Given the description of an element on the screen output the (x, y) to click on. 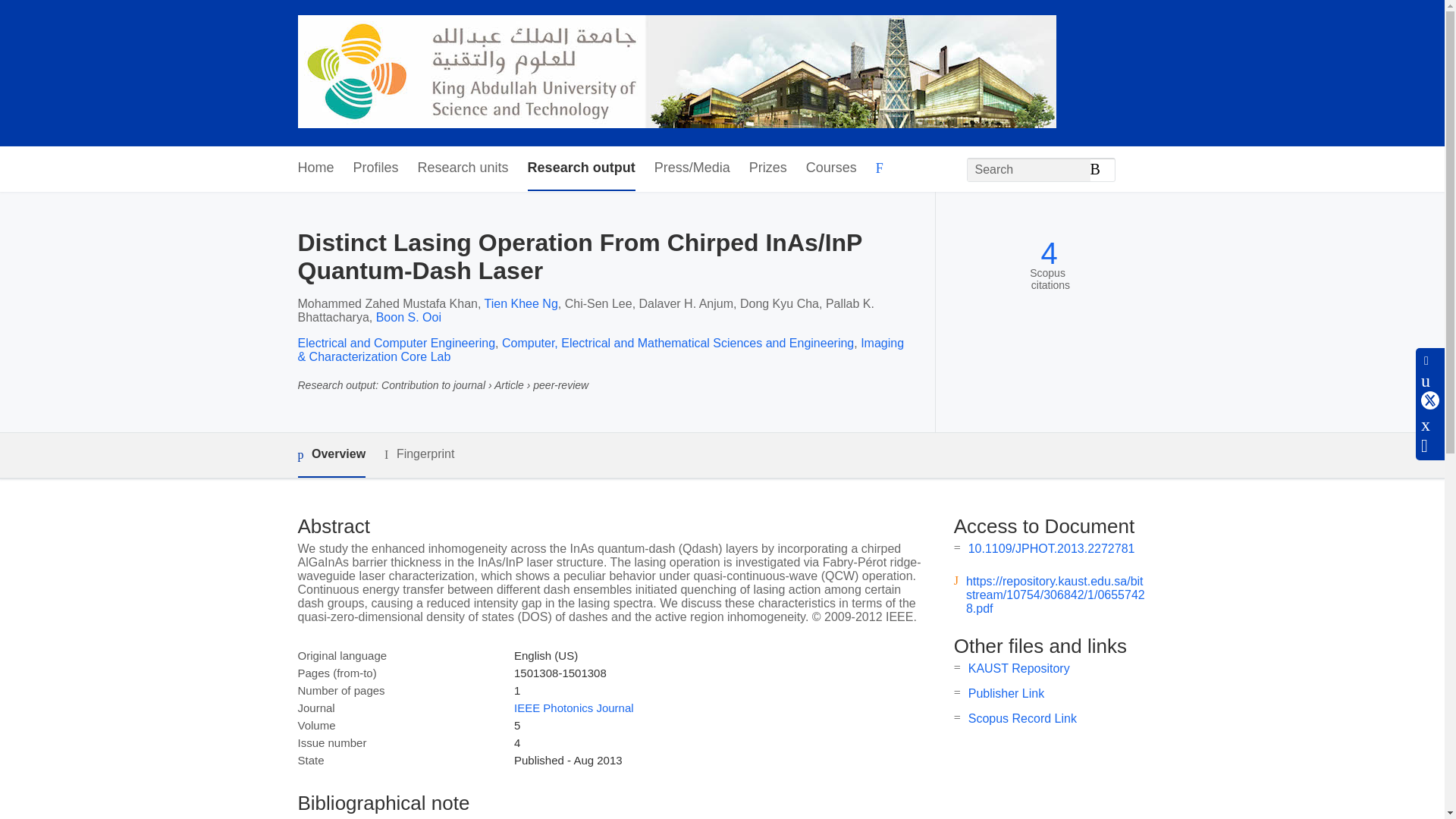
Tien Khee Ng (520, 303)
Electrical and Computer Engineering (396, 342)
Courses (831, 168)
Fingerprint (419, 454)
Research units (462, 168)
Profiles (375, 168)
Overview (331, 455)
Boon S. Ooi (408, 317)
Scopus Record Link (1022, 717)
Research output (580, 168)
IEEE Photonics Journal (573, 707)
Publisher Link (1006, 693)
KAUST Repository (1019, 667)
